Given the description of an element on the screen output the (x, y) to click on. 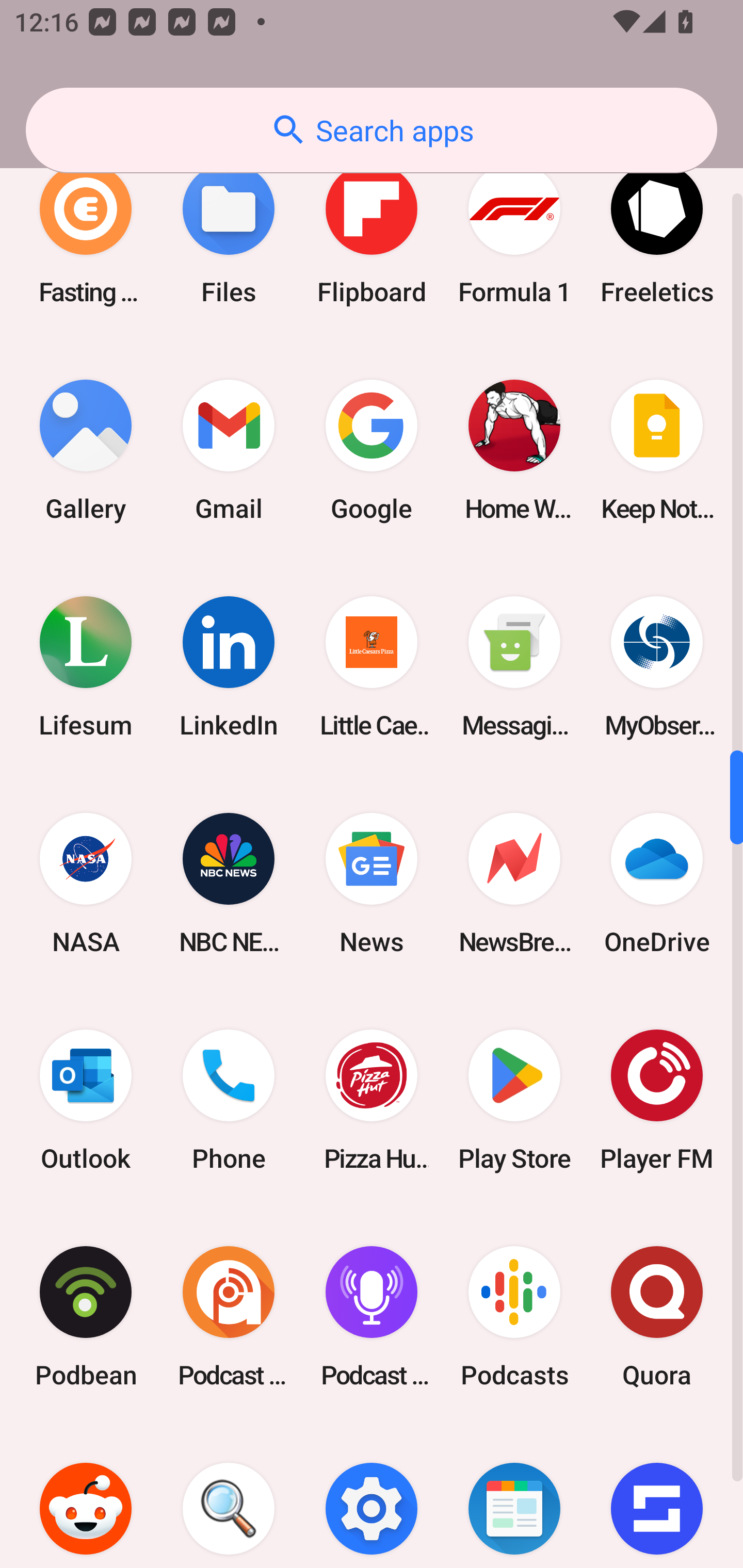
  Search apps (371, 130)
Fasting Coach (85, 233)
Files (228, 233)
Flipboard (371, 233)
Formula 1 (514, 233)
Freeletics (656, 233)
Gallery (85, 449)
Gmail (228, 449)
Google (371, 449)
Home Workout (514, 449)
Keep Notes (656, 449)
Lifesum (85, 666)
LinkedIn (228, 666)
Little Caesars Pizza (371, 666)
Messaging (514, 666)
MyObservatory (656, 666)
NASA (85, 883)
NBC NEWS (228, 883)
News (371, 883)
NewsBreak (514, 883)
OneDrive (656, 883)
Outlook (85, 1100)
Phone (228, 1100)
Pizza Hut HK & Macau (371, 1100)
Play Store (514, 1100)
Player FM (656, 1100)
Podbean (85, 1316)
Podcast Addict (228, 1316)
Podcast Player (371, 1316)
Podcasts (514, 1316)
Quora (656, 1316)
Reddit (85, 1496)
Search (228, 1496)
Settings (371, 1496)
SmartNews (514, 1496)
Sofascore (656, 1496)
